Given the description of an element on the screen output the (x, y) to click on. 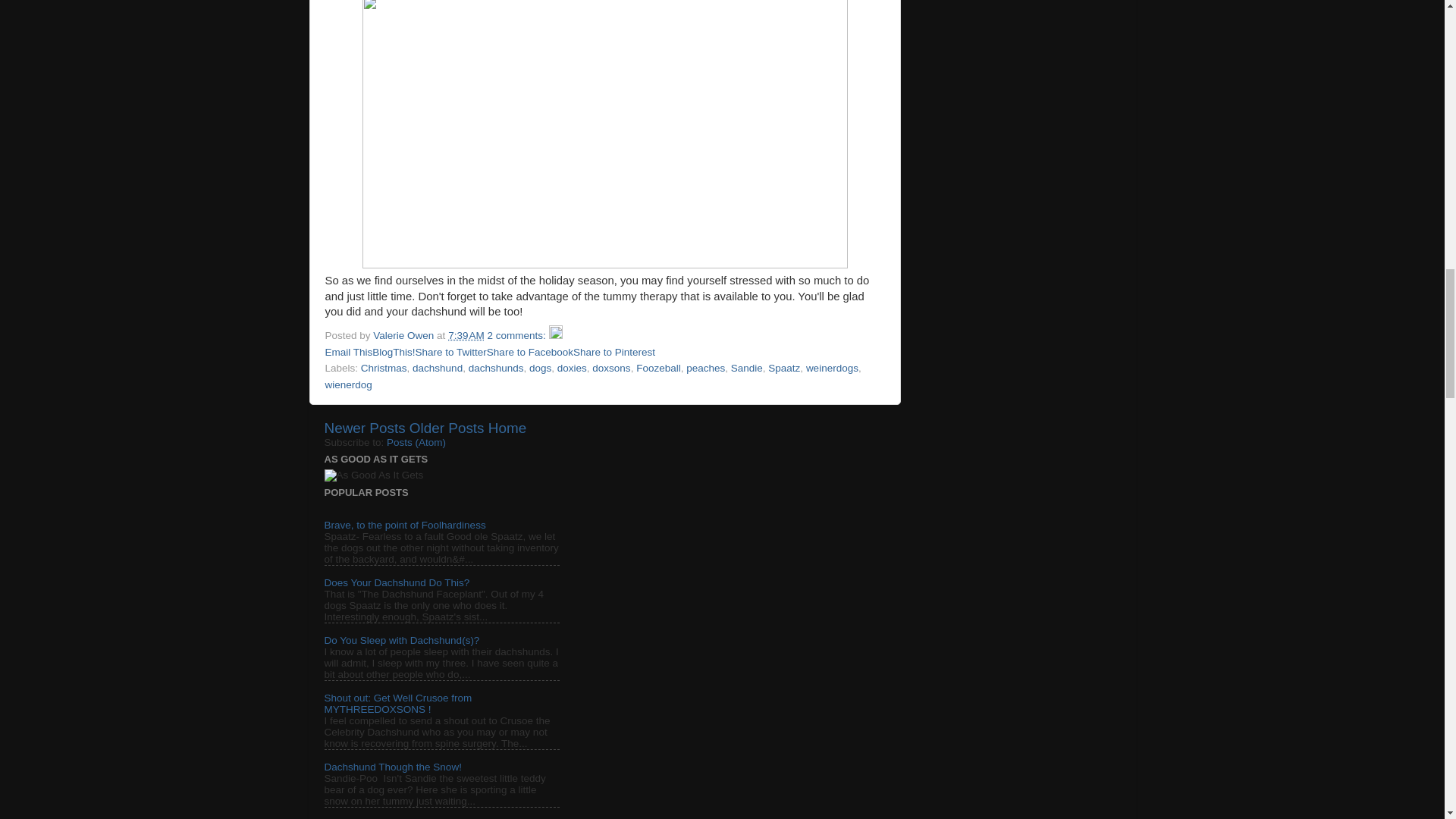
author profile (404, 335)
wienerdog (347, 384)
Home (506, 427)
Newer Posts (365, 427)
Christmas (384, 367)
Does Your Dachshund Do This? (397, 582)
2 comments: (517, 335)
Share to Facebook (529, 351)
Brave, to the point of Foolhardiness (405, 524)
dachshund (437, 367)
Foozeball (658, 367)
BlogThis! (393, 351)
permanent link (466, 335)
Older Posts (446, 427)
Edit Post (555, 335)
